Given the description of an element on the screen output the (x, y) to click on. 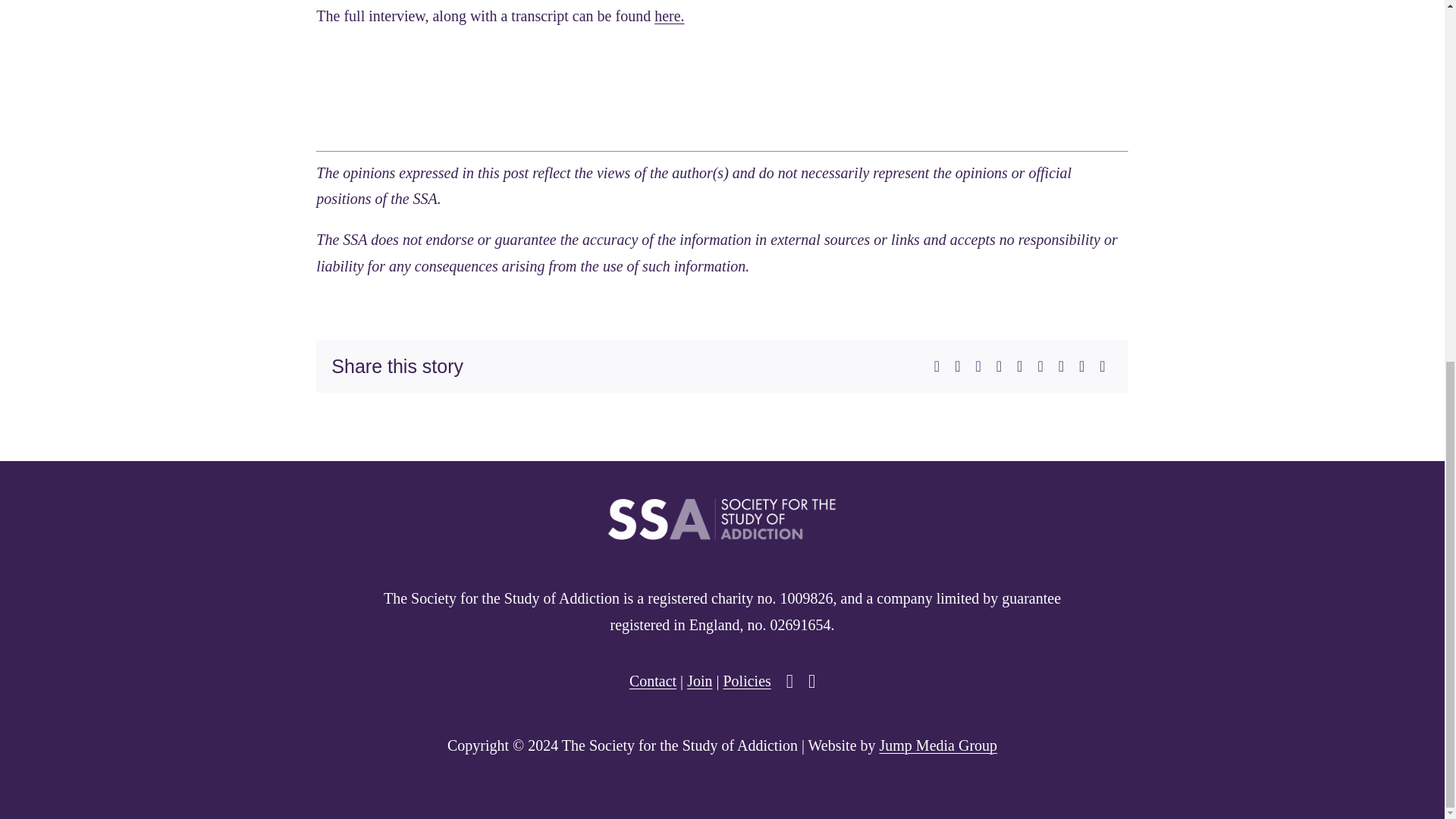
Contact (652, 680)
here. (668, 15)
Jump Media Group (938, 745)
Policies (746, 680)
Join (699, 680)
